Given the description of an element on the screen output the (x, y) to click on. 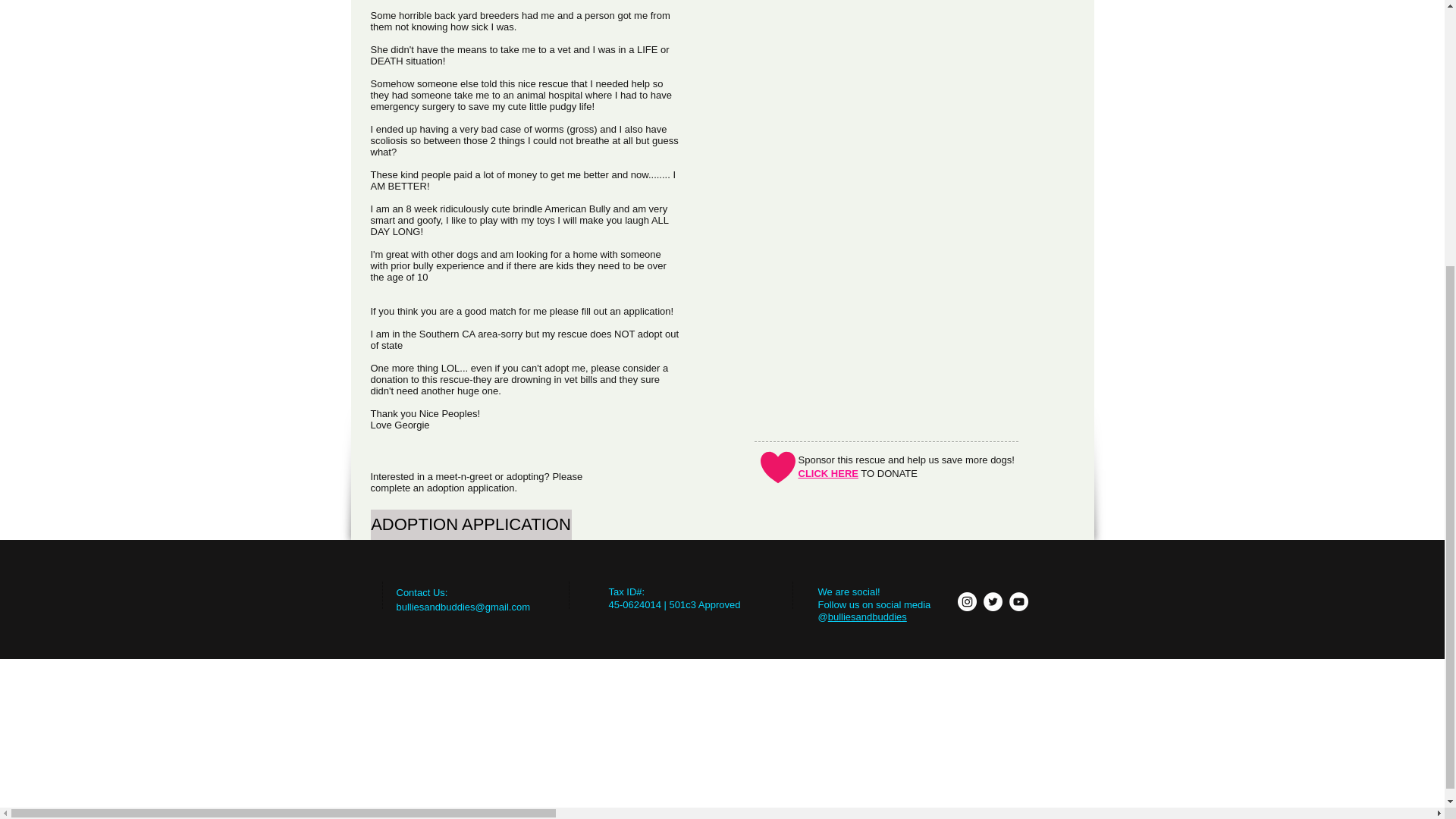
bulliesandbuddies (867, 616)
CLICK HERE (827, 473)
ADOPTION APPLICATION (469, 524)
